Given the description of an element on the screen output the (x, y) to click on. 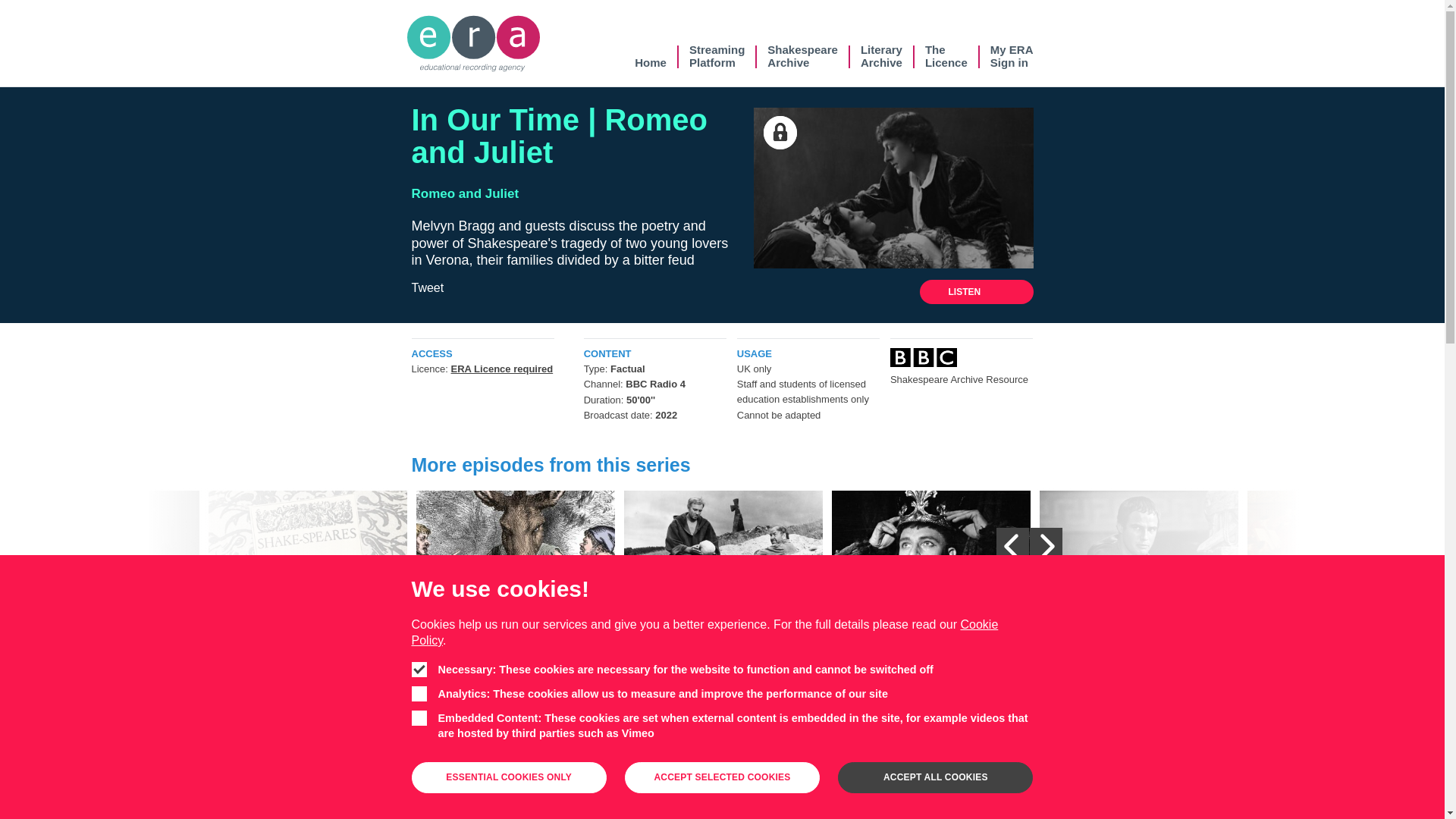
Tweet (427, 287)
ERA Licence required (502, 368)
Home (946, 56)
